Given the description of an element on the screen output the (x, y) to click on. 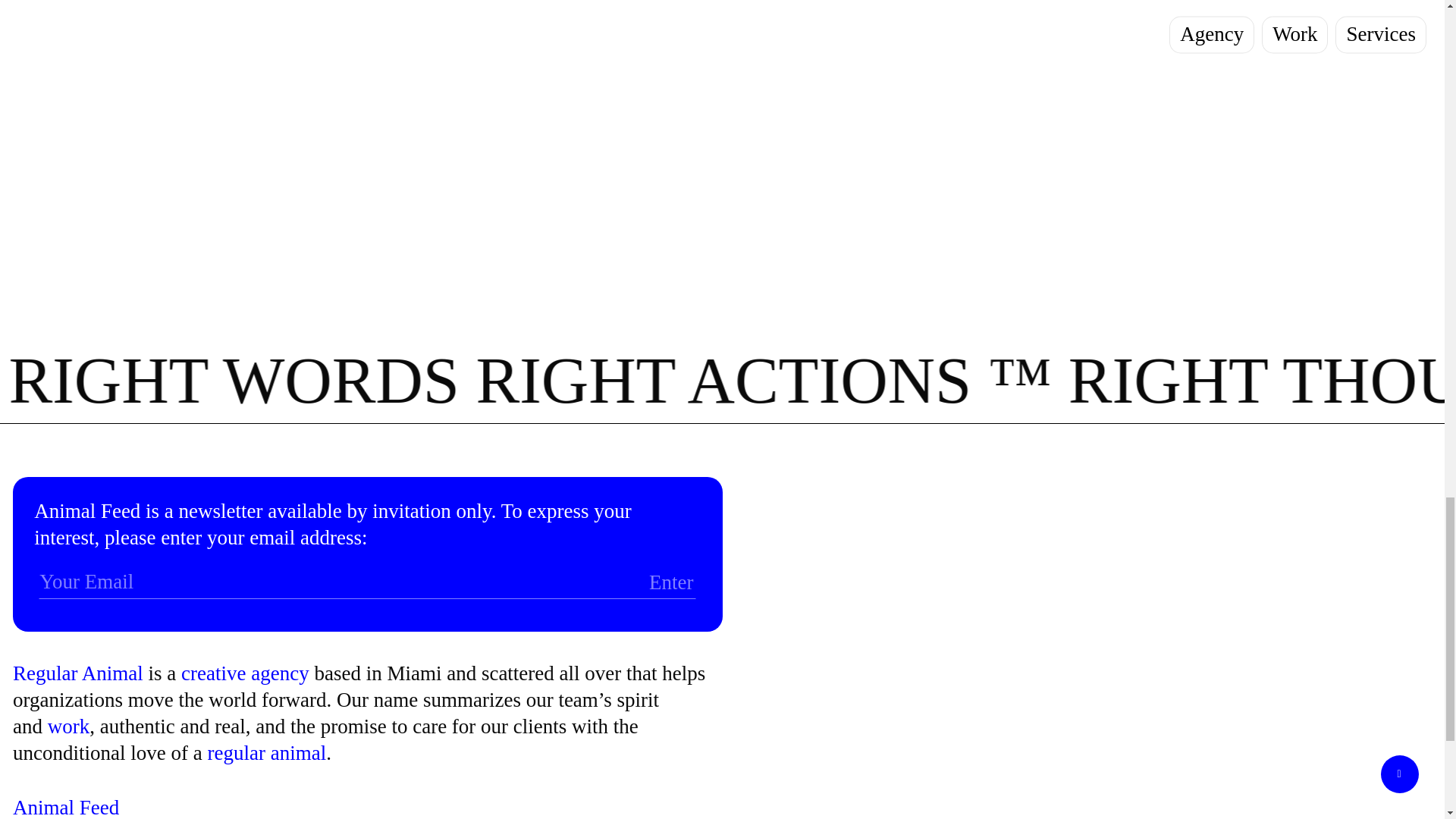
Enter (617, 584)
creative agency (244, 672)
Regular Animal (77, 672)
